Given the description of an element on the screen output the (x, y) to click on. 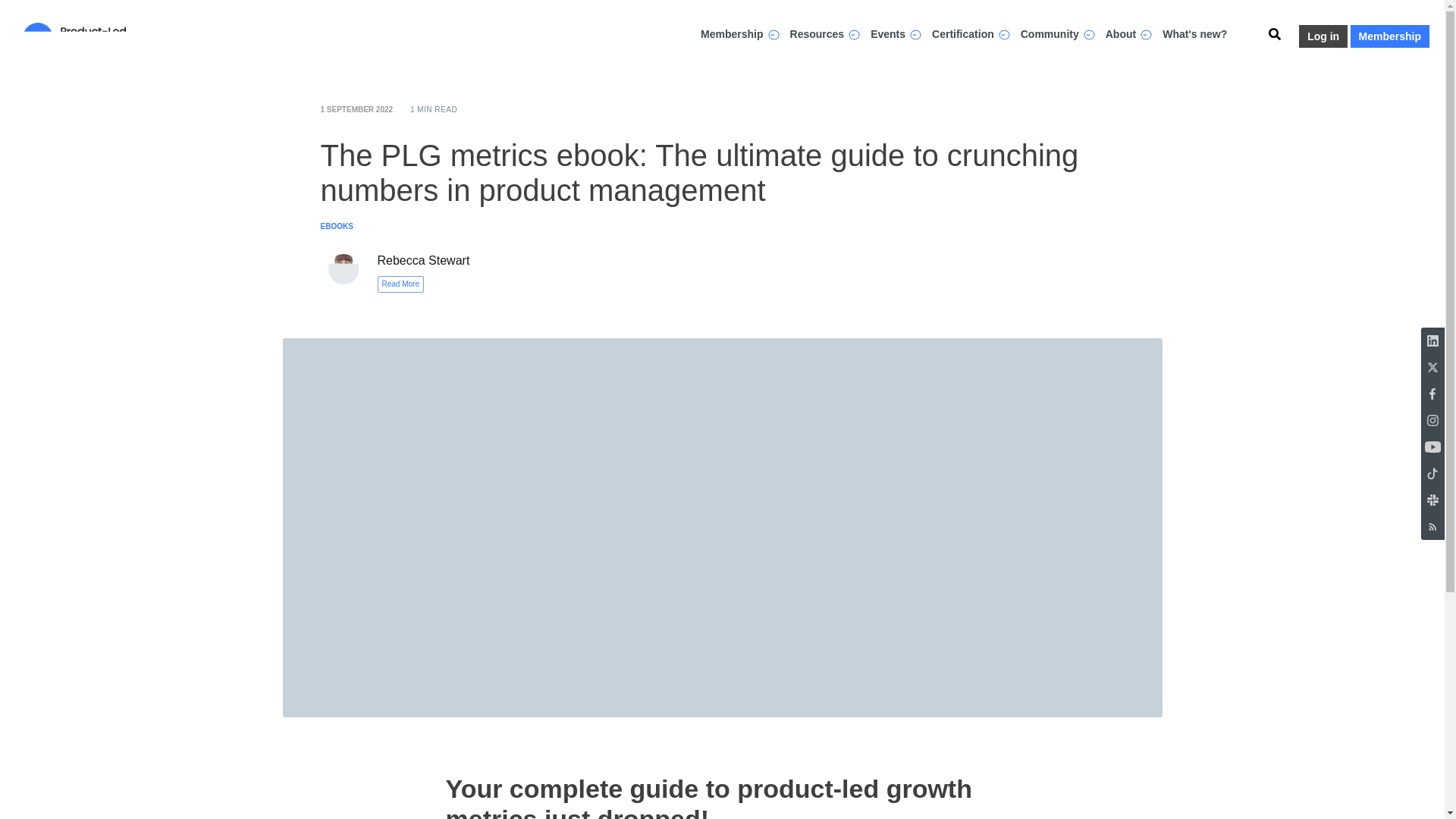
Membership (1390, 36)
Log in (1323, 36)
